Given the description of an element on the screen output the (x, y) to click on. 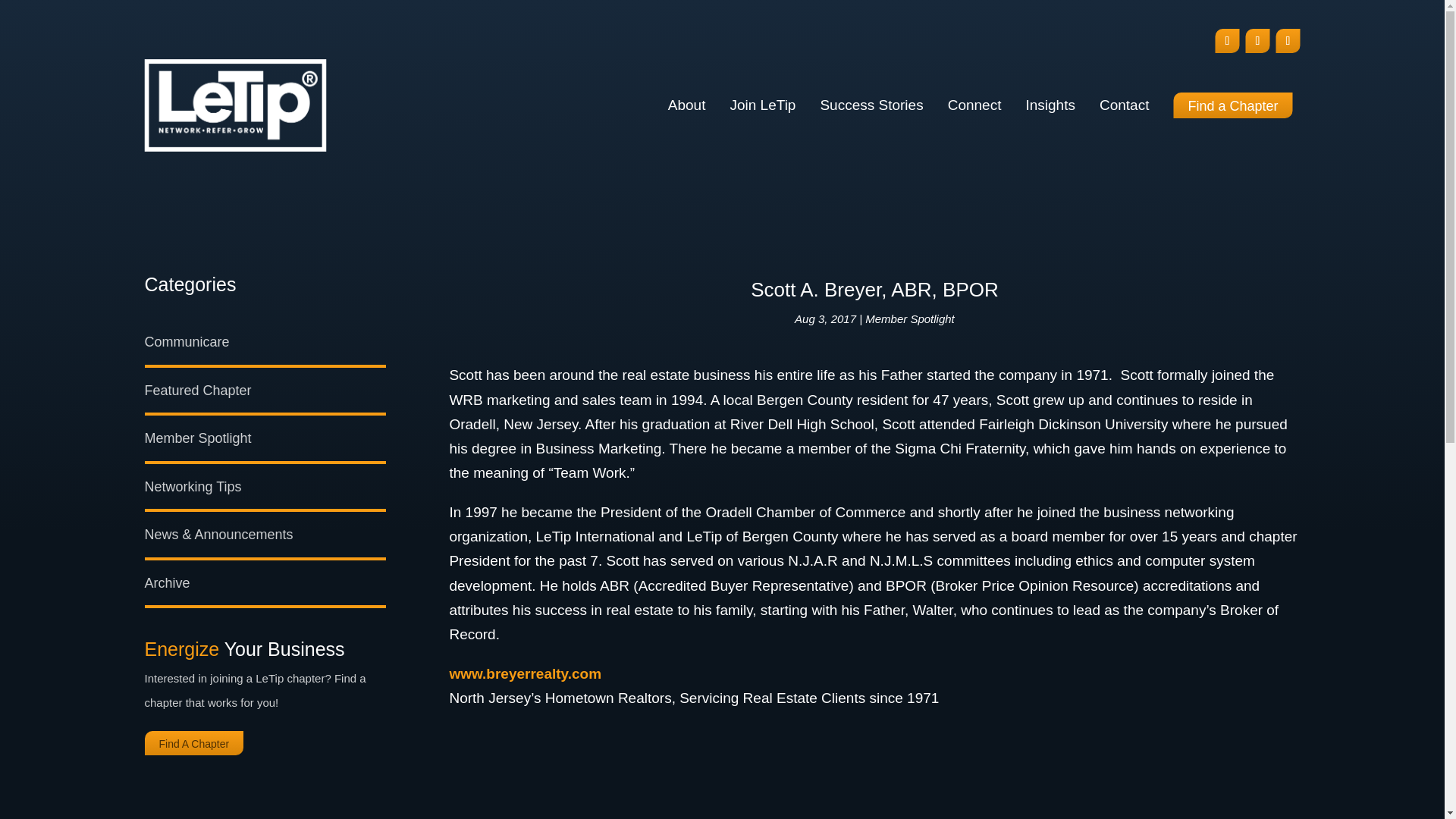
Find a Chapter (1232, 104)
Success Stories (871, 104)
Connect (974, 104)
About (687, 104)
Insights (1049, 104)
Follow on X (1287, 40)
Contact (1123, 104)
Join LeTip (761, 104)
Follow on Facebook (1226, 40)
Follow on Instagram (1256, 40)
